Given the description of an element on the screen output the (x, y) to click on. 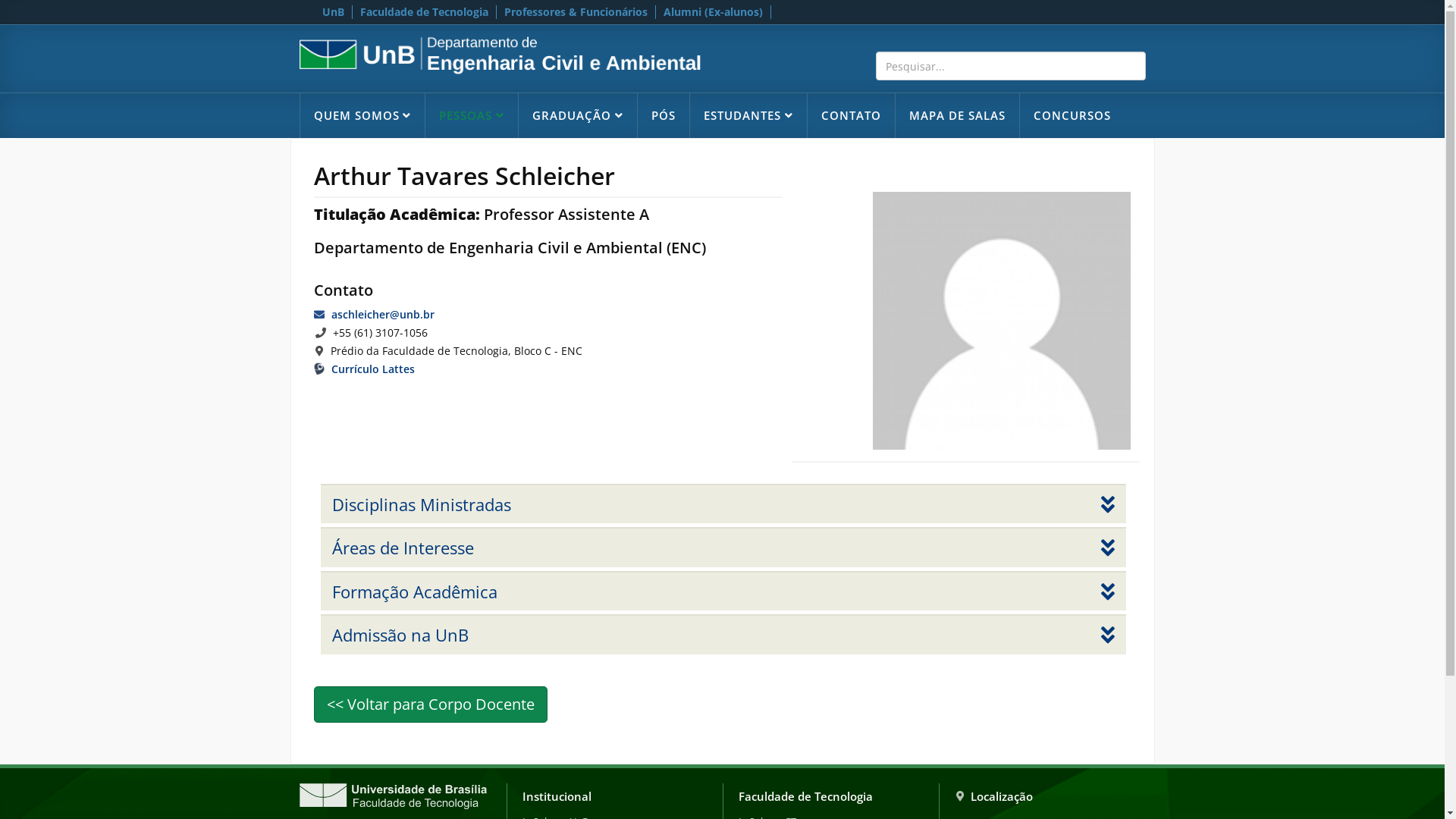
CONCURSOS Element type: text (1071, 115)
Alumni (Ex-alunos) Element type: text (712, 11)
<< Voltar para Corpo Docente Element type: text (430, 704)
UnB Element type: text (332, 11)
MAPA DE SALAS Element type: text (956, 115)
PESSOAS Element type: text (470, 115)
QUEM SOMOS Element type: text (361, 115)
aschleicher@unb.br Element type: text (381, 314)
Disciplinas Ministradas Element type: text (723, 504)
CONTATO Element type: text (850, 115)
Faculdade de Tecnologia Element type: text (423, 11)
ESTUDANTES Element type: text (747, 115)
